Given the description of an element on the screen output the (x, y) to click on. 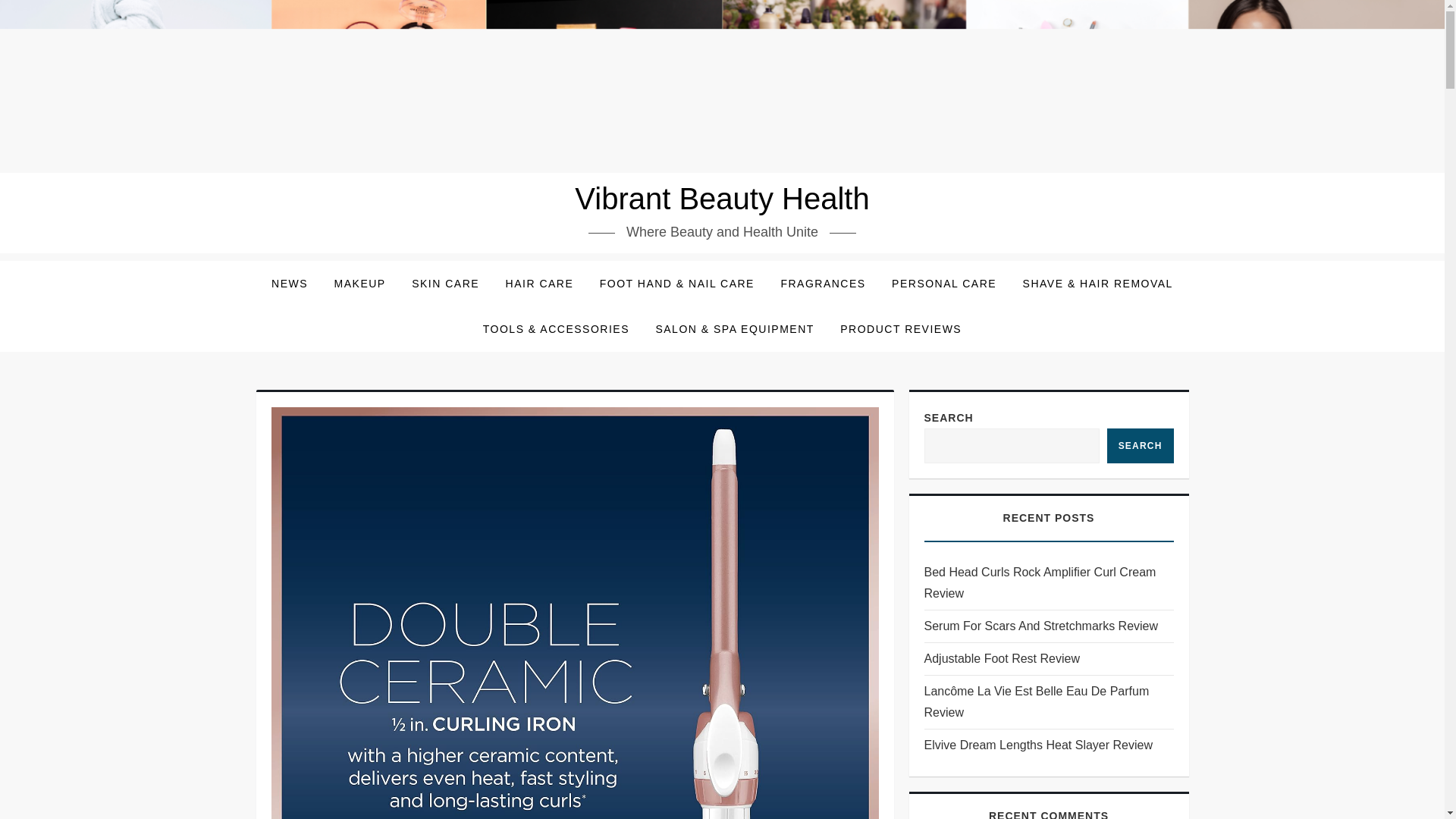
SKIN CARE (445, 283)
PRODUCT REVIEWS (900, 329)
PERSONAL CARE (943, 283)
HAIR CARE (540, 283)
Vibrant Beauty Health (722, 198)
MAKEUP (360, 283)
FRAGRANCES (822, 283)
NEWS (289, 283)
